Given the description of an element on the screen output the (x, y) to click on. 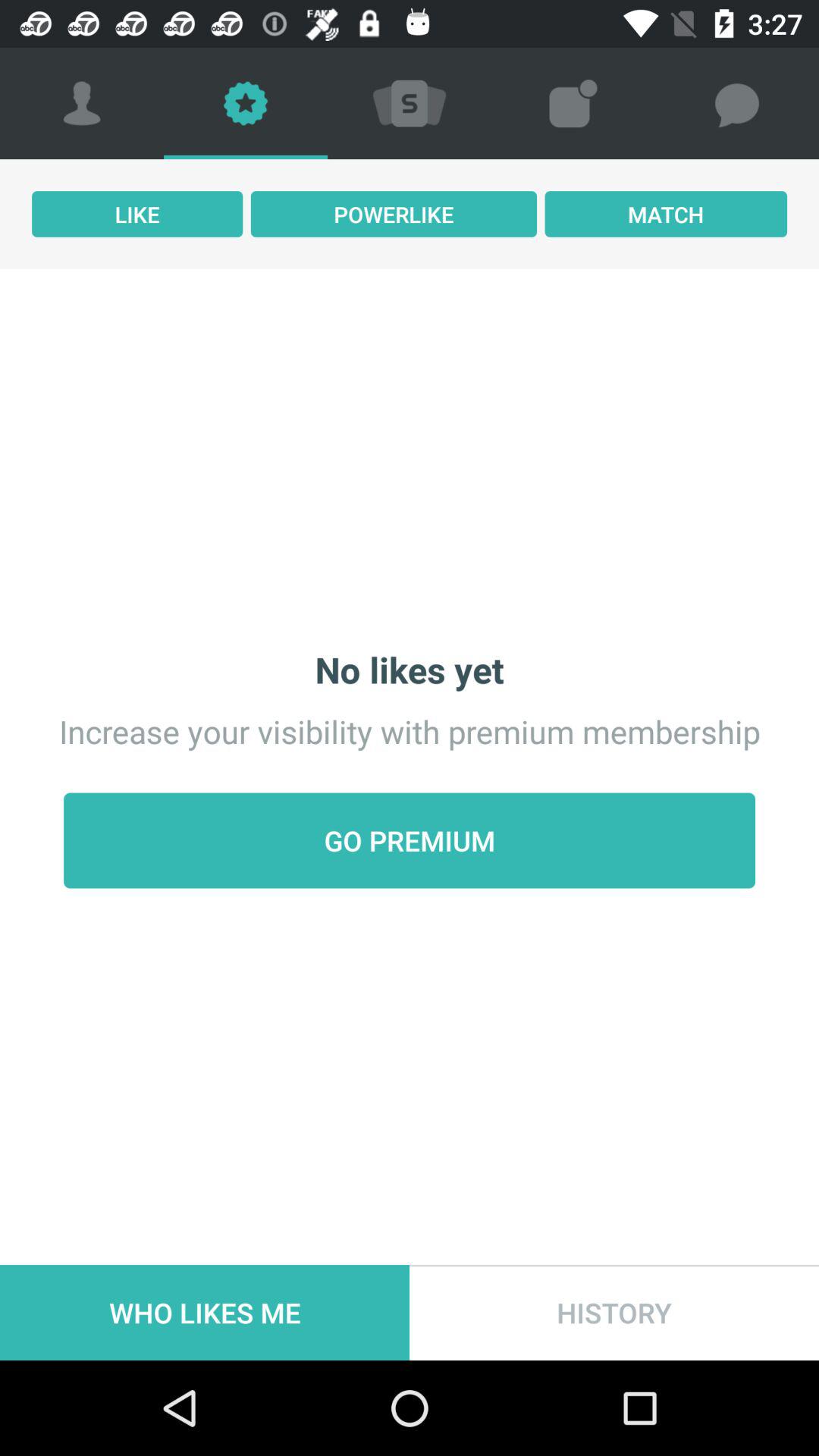
press icon to the right of who likes me item (614, 1312)
